Given the description of an element on the screen output the (x, y) to click on. 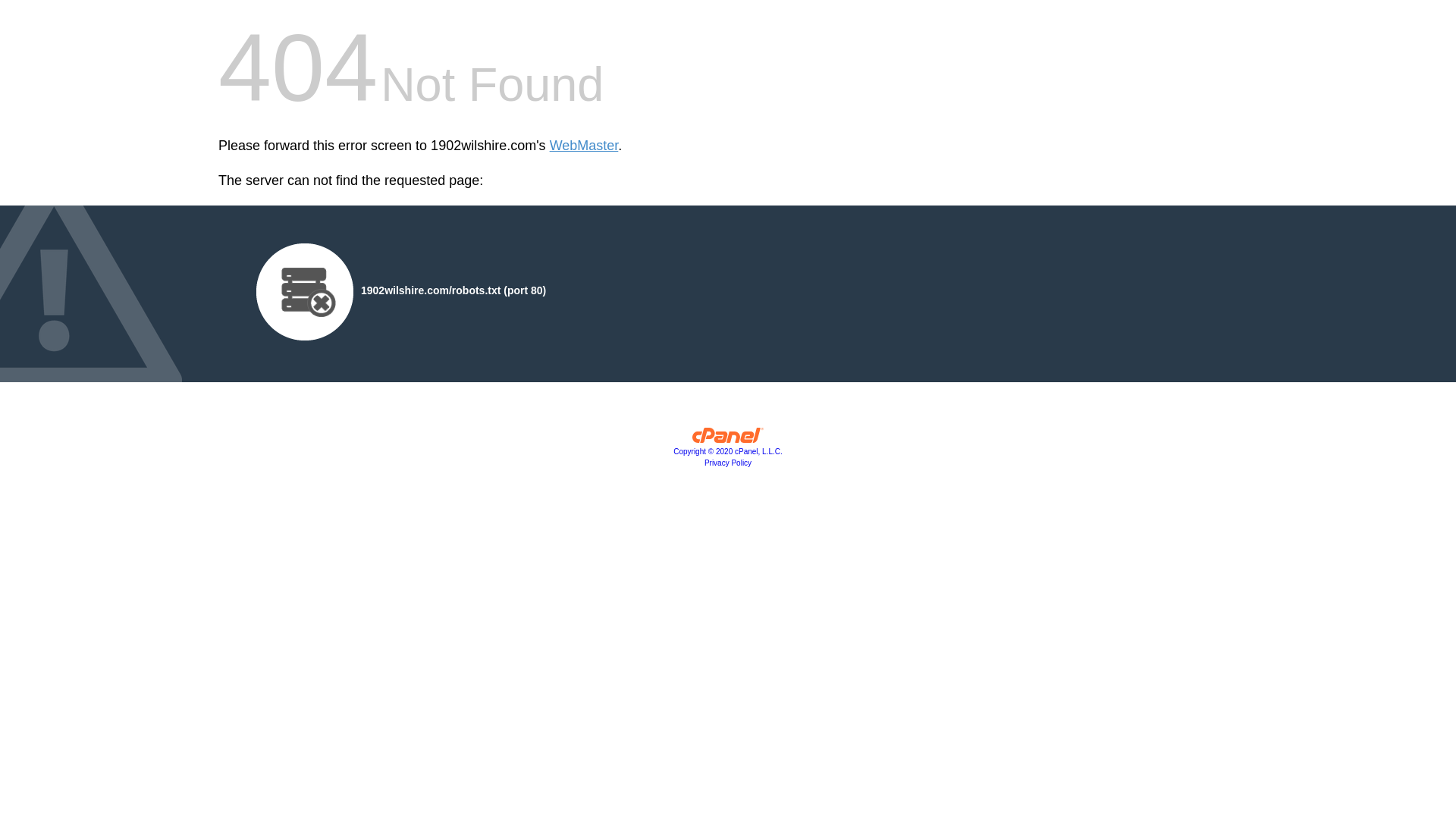
Privacy Policy Element type: text (727, 462)
WebMaster Element type: text (583, 145)
cPanel, Inc. Element type: hover (728, 439)
